Given the description of an element on the screen output the (x, y) to click on. 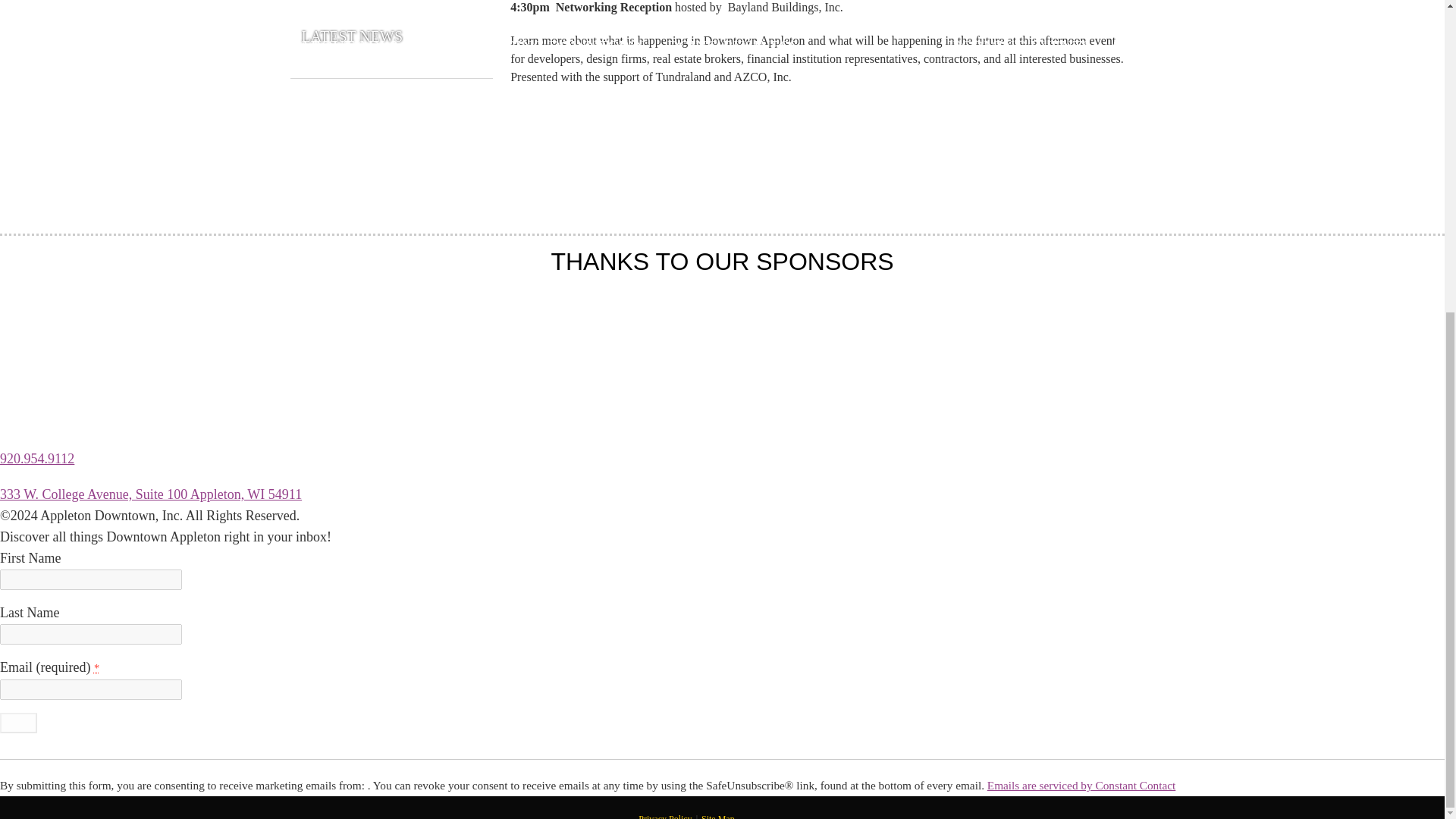
GO! (18, 722)
